Given the description of an element on the screen output the (x, y) to click on. 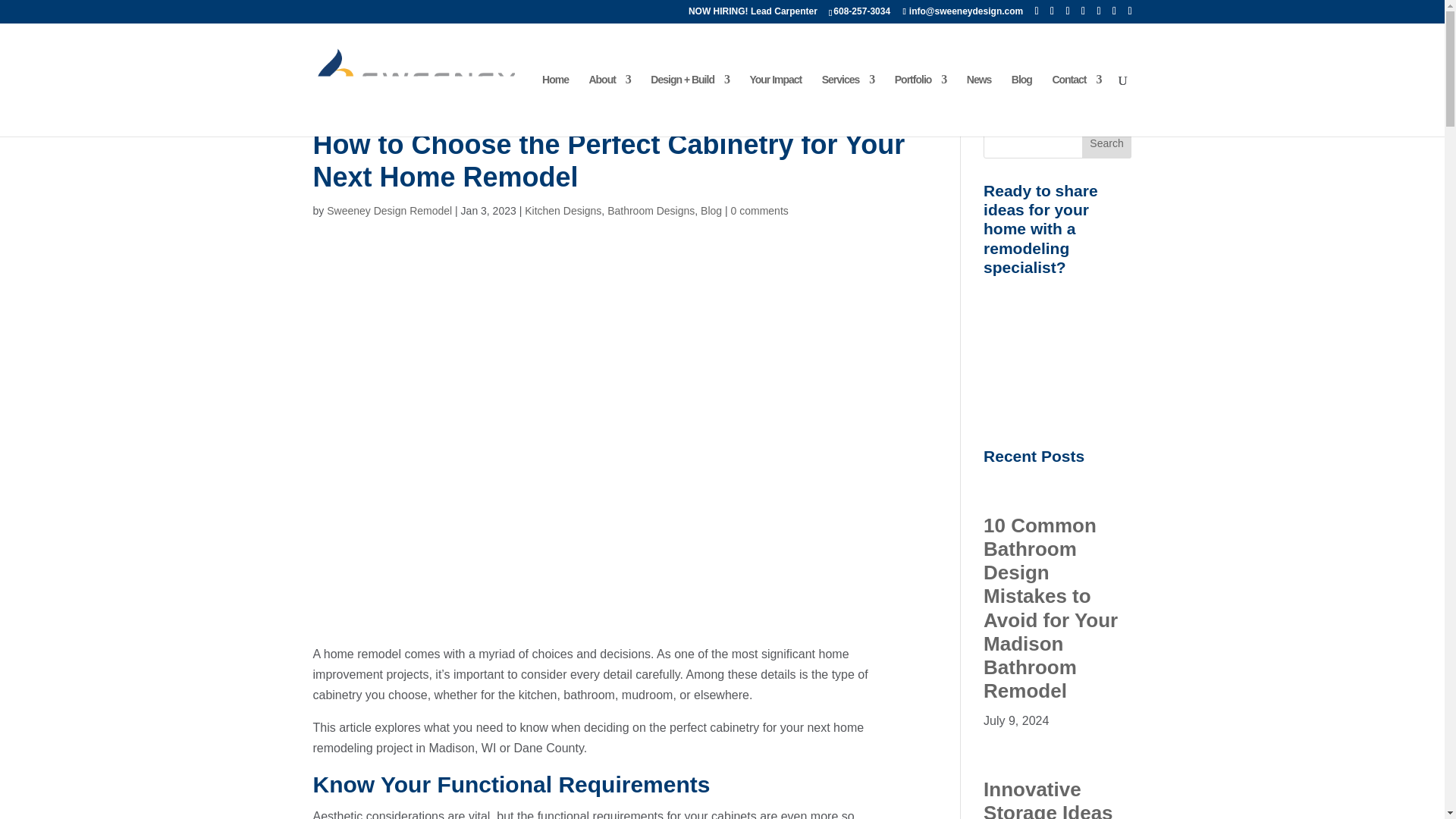
NOW HIRING! Lead Carpenter (752, 14)
Posts by Sweeney Design Remodel (388, 210)
Search (1106, 142)
